Given the description of an element on the screen output the (x, y) to click on. 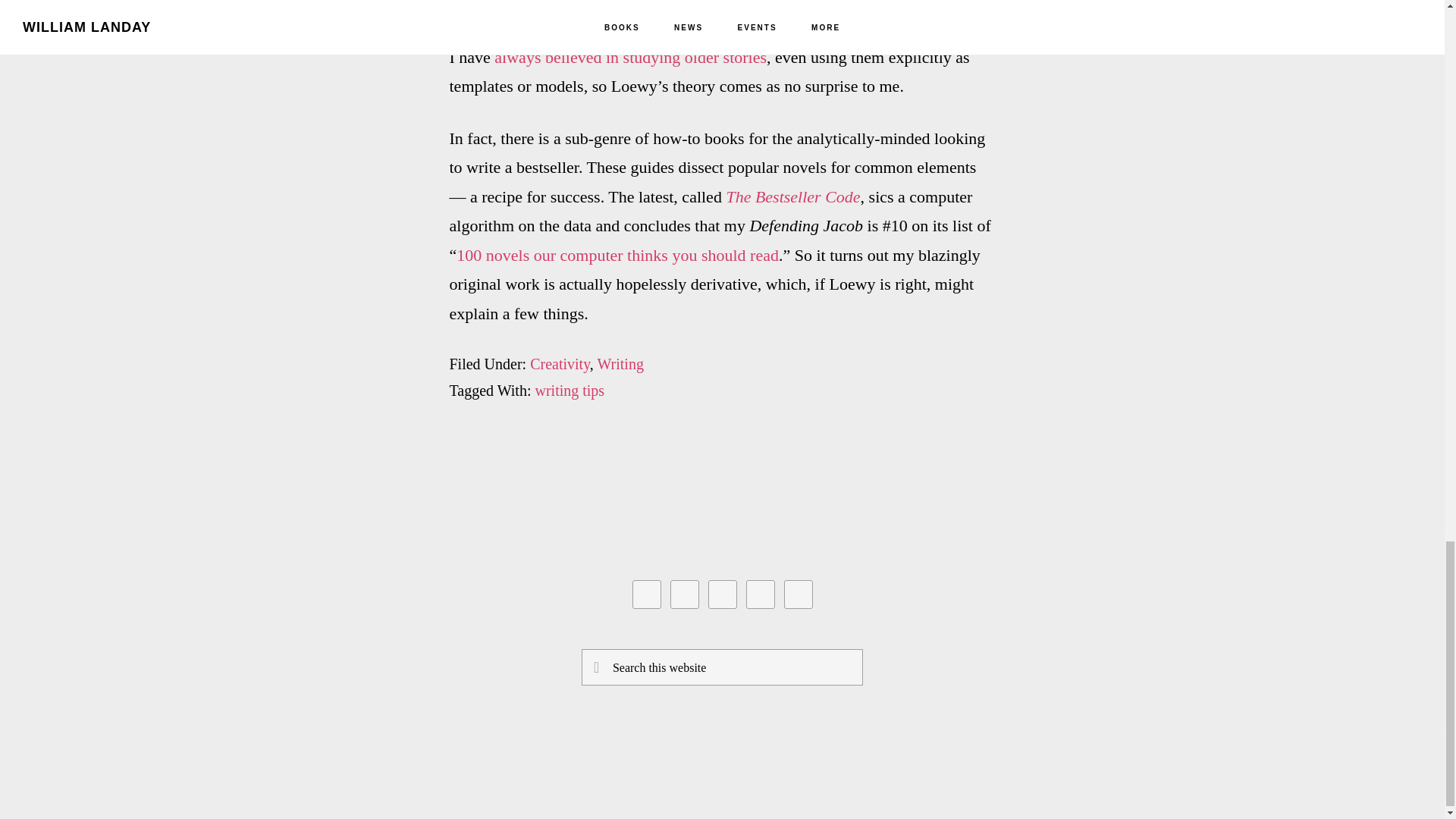
Creativity (559, 363)
Writing (619, 363)
100 novels our computer thinks you should read (617, 254)
writing tips (569, 390)
The Bestseller Code (792, 196)
always believed in studying older stories (631, 56)
